Given the description of an element on the screen output the (x, y) to click on. 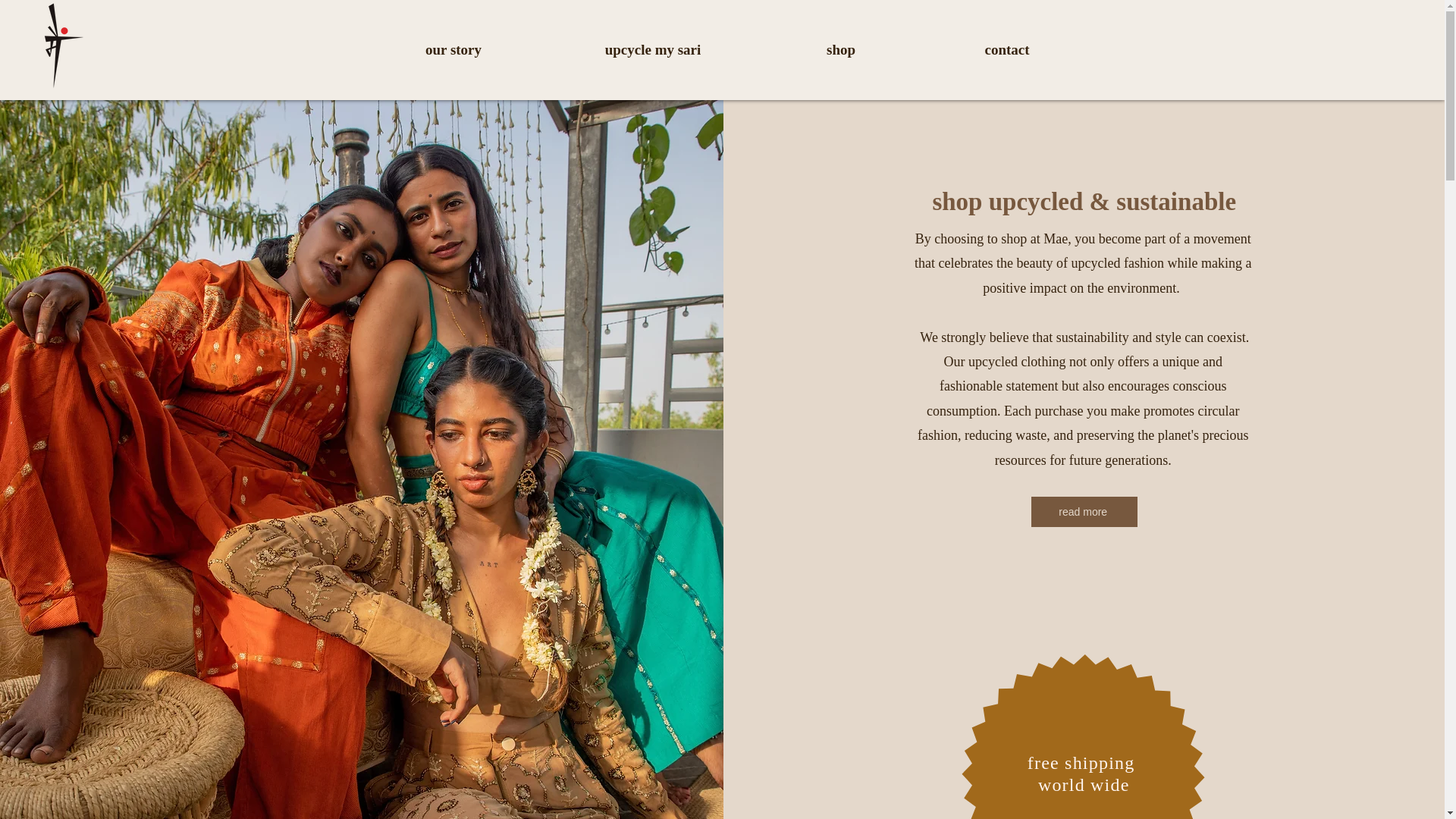
our story (452, 49)
read more (1083, 511)
contact (1007, 49)
shop (840, 49)
upcycle my sari (652, 49)
